Given the description of an element on the screen output the (x, y) to click on. 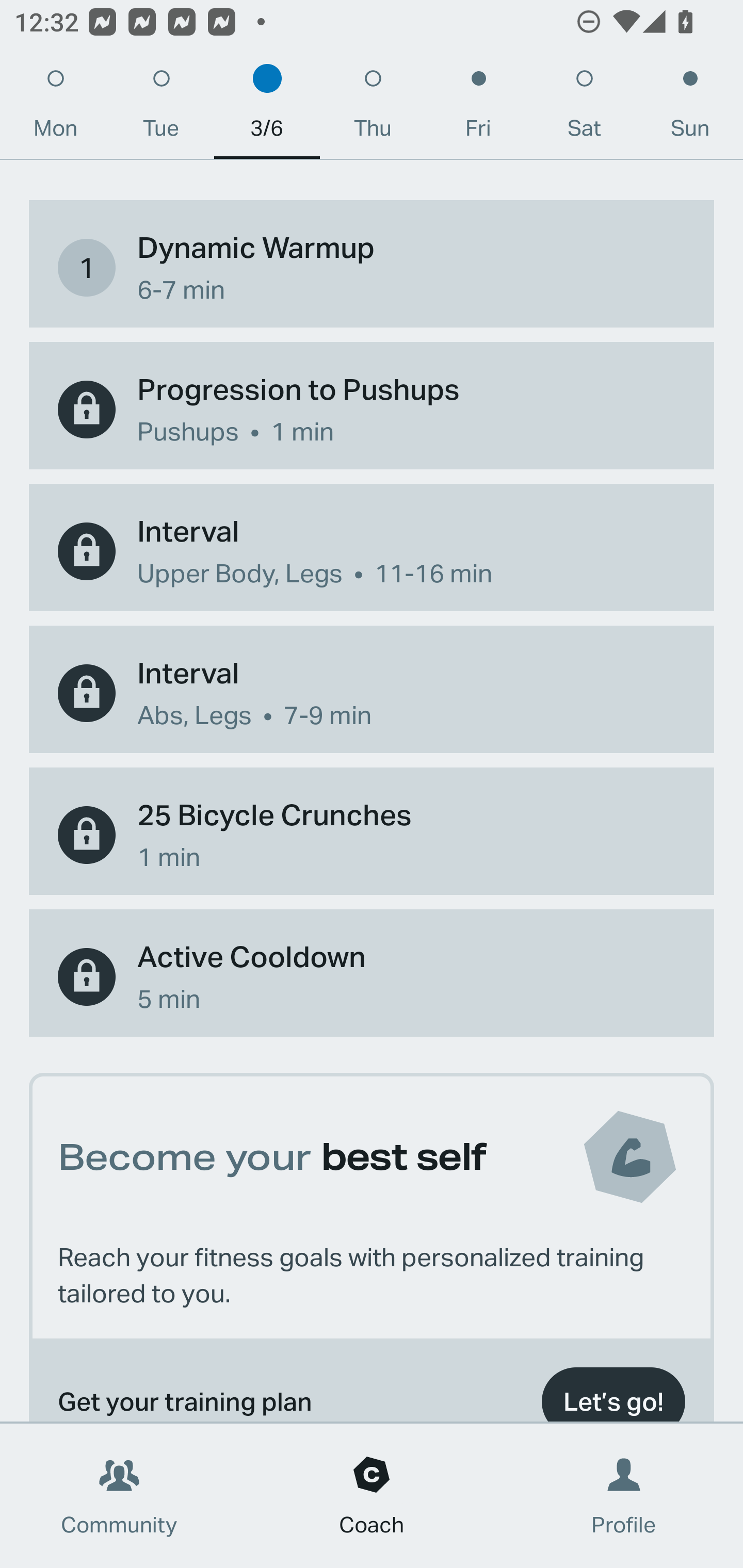
Mon (55, 108)
Tue (160, 108)
3/6 (266, 108)
Thu (372, 108)
Fri (478, 108)
Sat (584, 108)
Sun (690, 108)
1 Dynamic Warmup 6-7 min (371, 267)
Progression to Pushups Pushups  •  1 min (371, 409)
Interval Upper Body, Legs  •  11-16 min (371, 551)
Interval Abs, Legs  •  7-9 min (371, 692)
25 Bicycle Crunches 1 min (371, 834)
Active Cooldown 5 min (371, 976)
Let’s go! (613, 1389)
Community (119, 1495)
Profile (624, 1495)
